Given the description of an element on the screen output the (x, y) to click on. 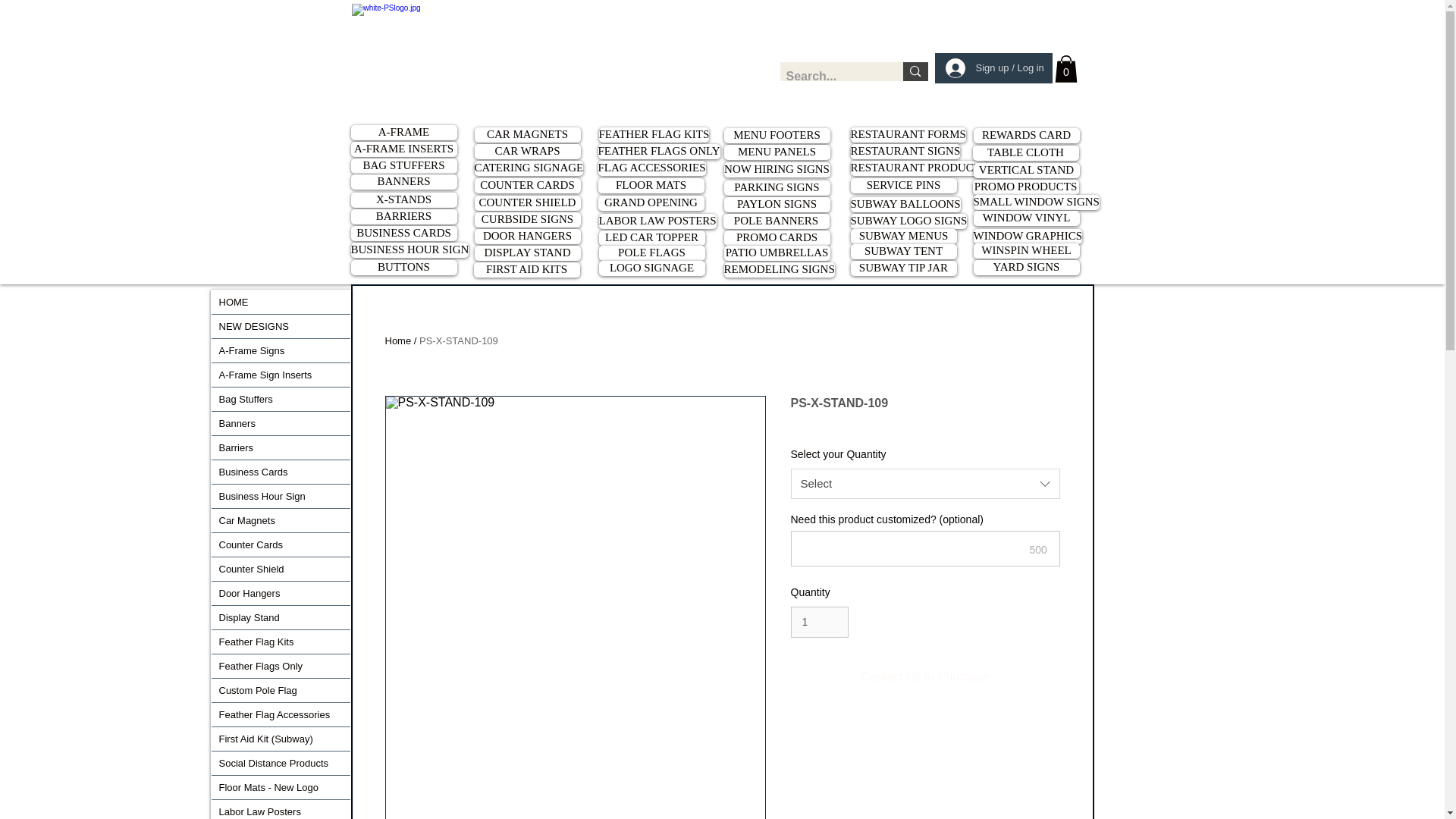
LOGO SIGNAGE (651, 268)
BUSINESS HOUR SIGN (409, 249)
DOOR HANGERS (527, 236)
1 (818, 622)
CAR MAGNETS (527, 134)
MENU PANELS (776, 151)
FLAG ACCESSORIES (650, 168)
FLOOR MATS (649, 185)
A-FRAME INSERTS (403, 149)
CATERING SIGNAGE (528, 168)
